Given the description of an element on the screen output the (x, y) to click on. 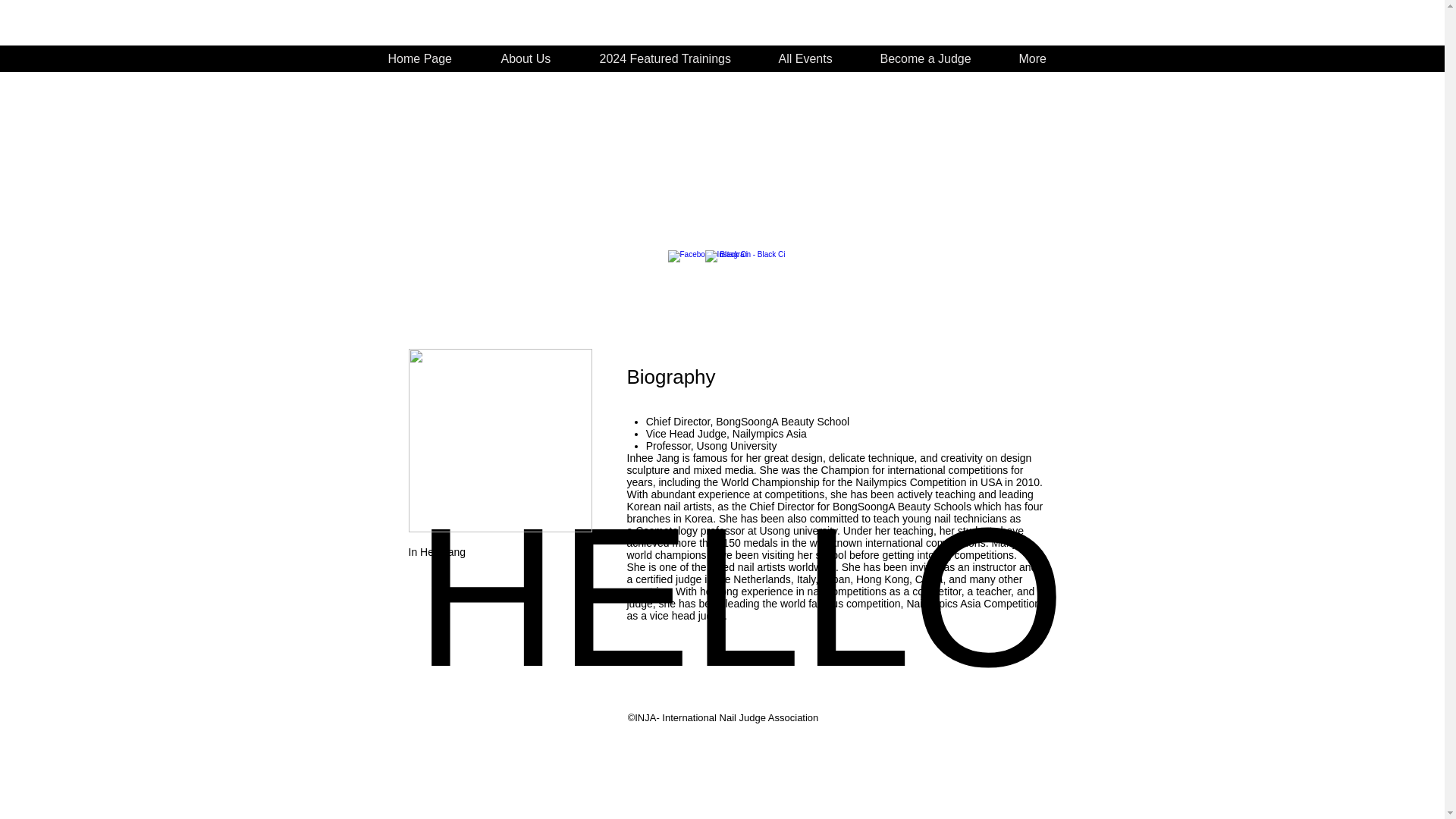
Home Page (740, 605)
About Us (424, 58)
2024 Featured Trainings (530, 58)
Become a Judge (670, 58)
